Given the description of an element on the screen output the (x, y) to click on. 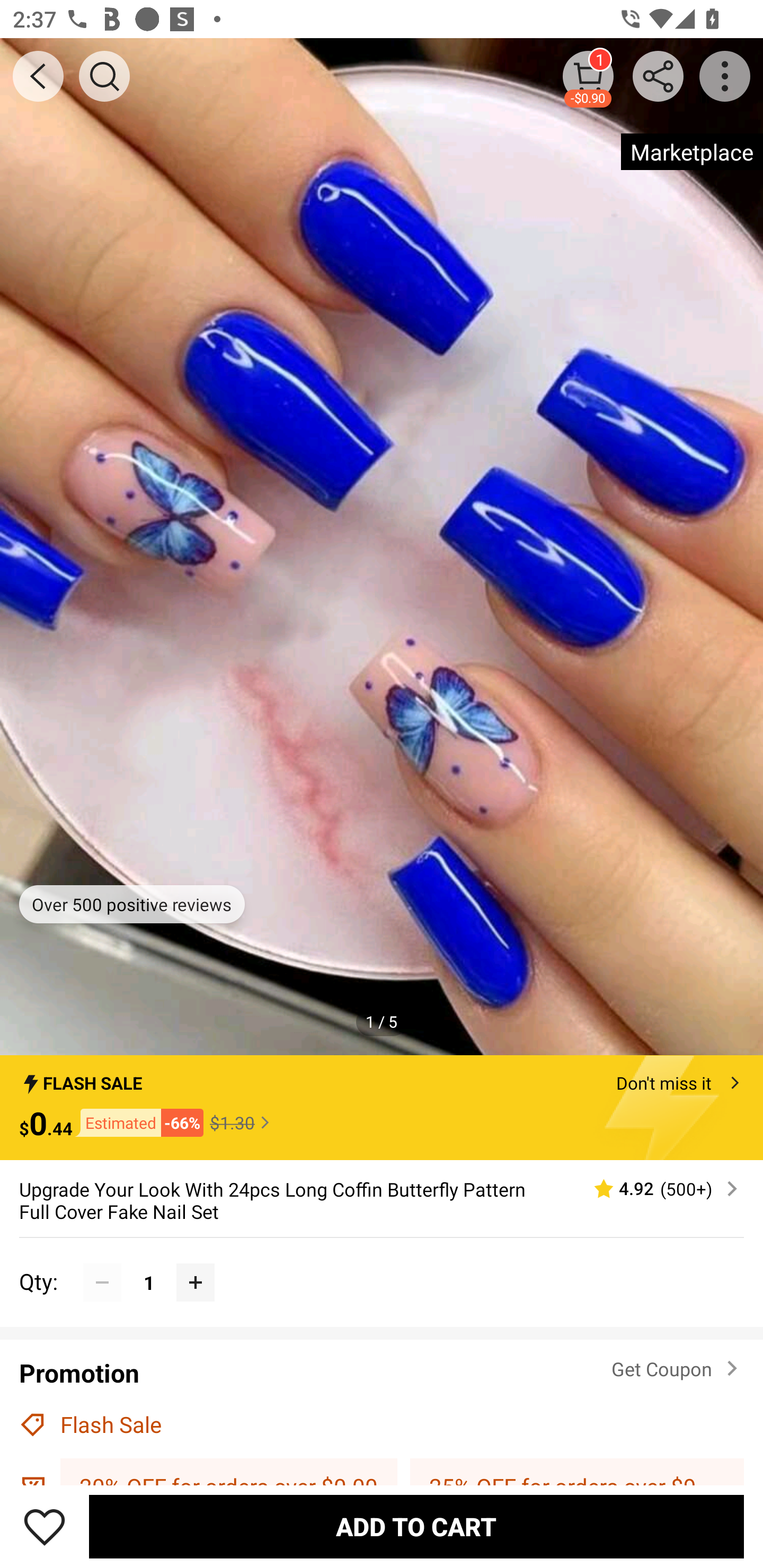
BACK (38, 75)
1 -$0.90 (588, 75)
1 / 5 (381, 1021)
FLASH SALE Don't miss it (381, 1077)
Estimated -66% (137, 1122)
$1.30 (241, 1121)
4.92 (500‎+) (658, 1188)
Qty: 1 (381, 1262)
ADD TO CART (416, 1526)
Save (44, 1526)
